Given the description of an element on the screen output the (x, y) to click on. 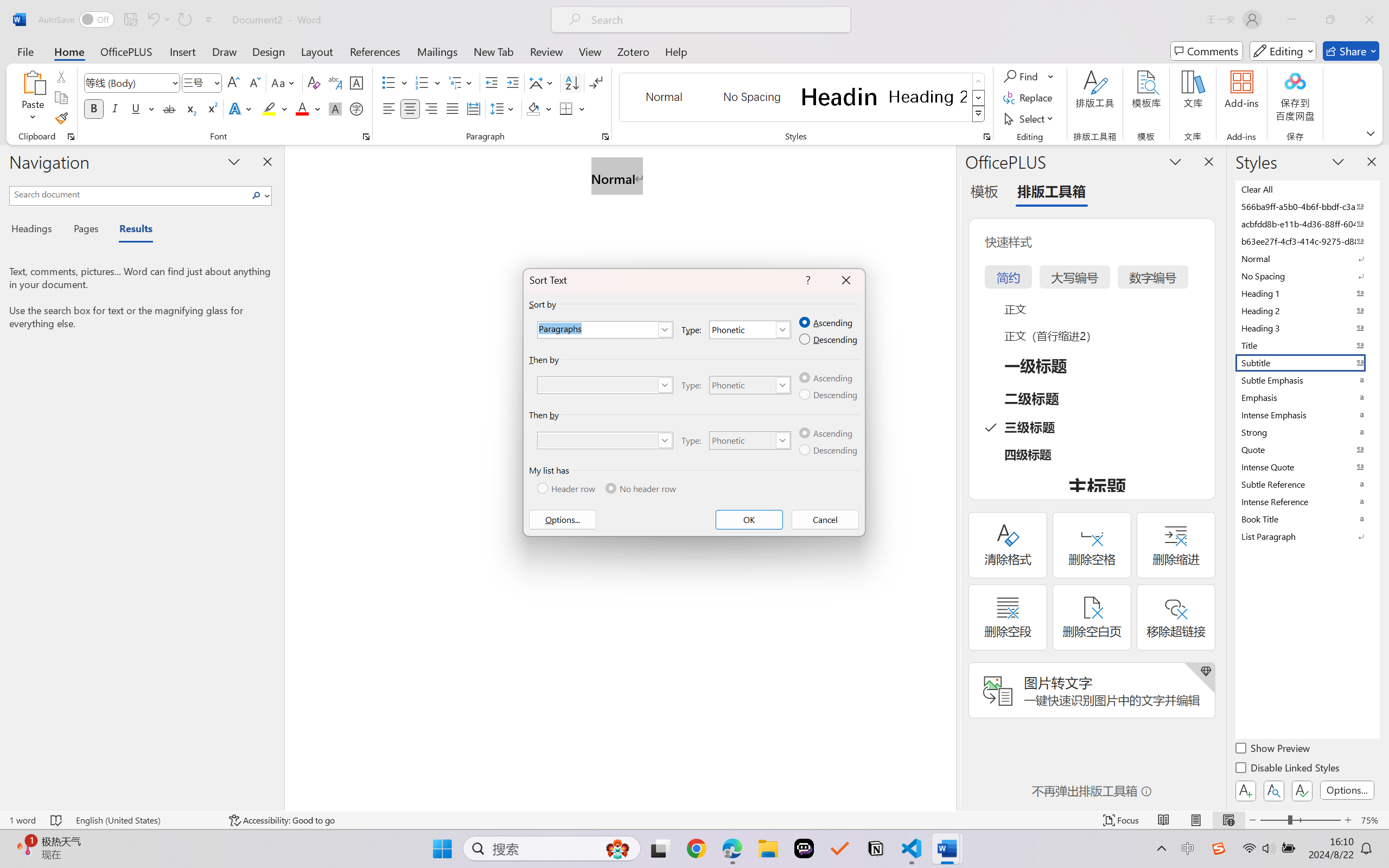
Change Case (284, 82)
b63ee27f-4cf3-414c-9275-d88e3f90795e (1306, 240)
AutomationID: DynamicSearchBoxGleamImage (617, 848)
Insert (182, 51)
No header row (641, 488)
Text Highlight Color (274, 108)
Bullets (388, 82)
Zotero (632, 51)
Save (130, 19)
Show Preview (1273, 749)
